Given the description of an element on the screen output the (x, y) to click on. 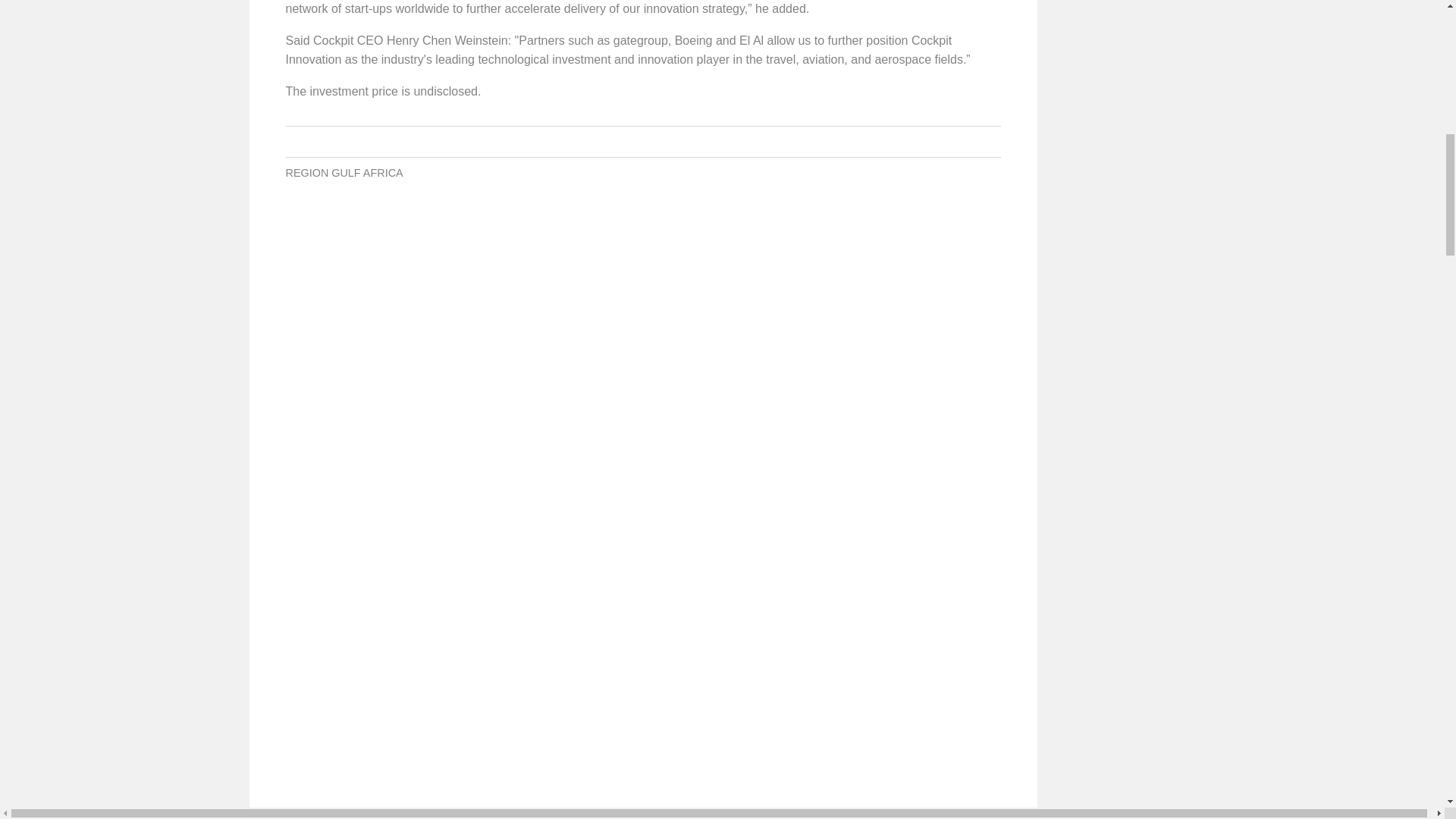
3rd party ad content (1128, 65)
3rd party ad content (643, 251)
